Given the description of an element on the screen output the (x, y) to click on. 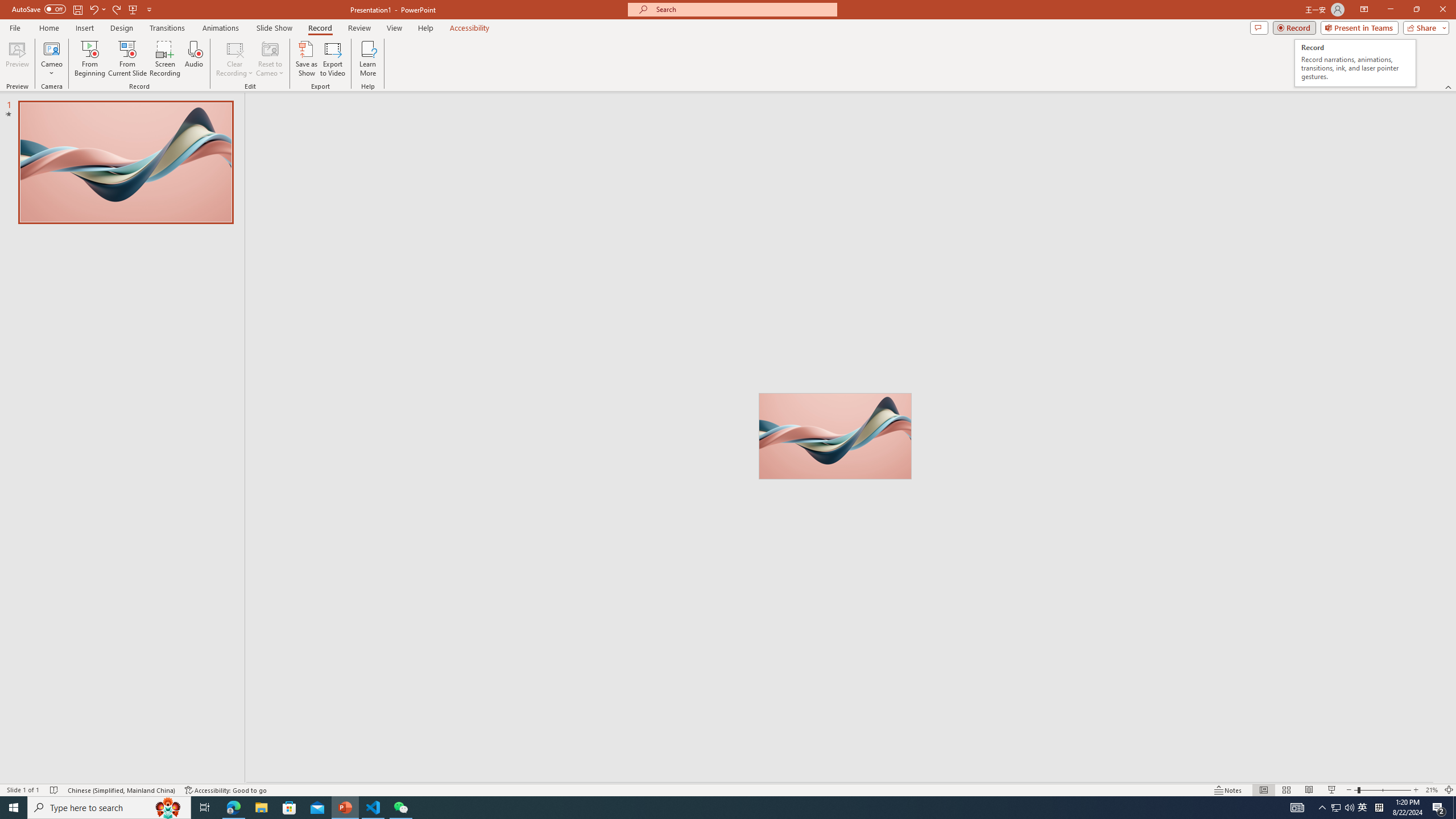
Preview (17, 58)
Cameo (51, 48)
Wavy 3D art (834, 436)
Cameo (51, 58)
Export to Video (332, 58)
Clear Recording (234, 58)
